Given the description of an element on the screen output the (x, y) to click on. 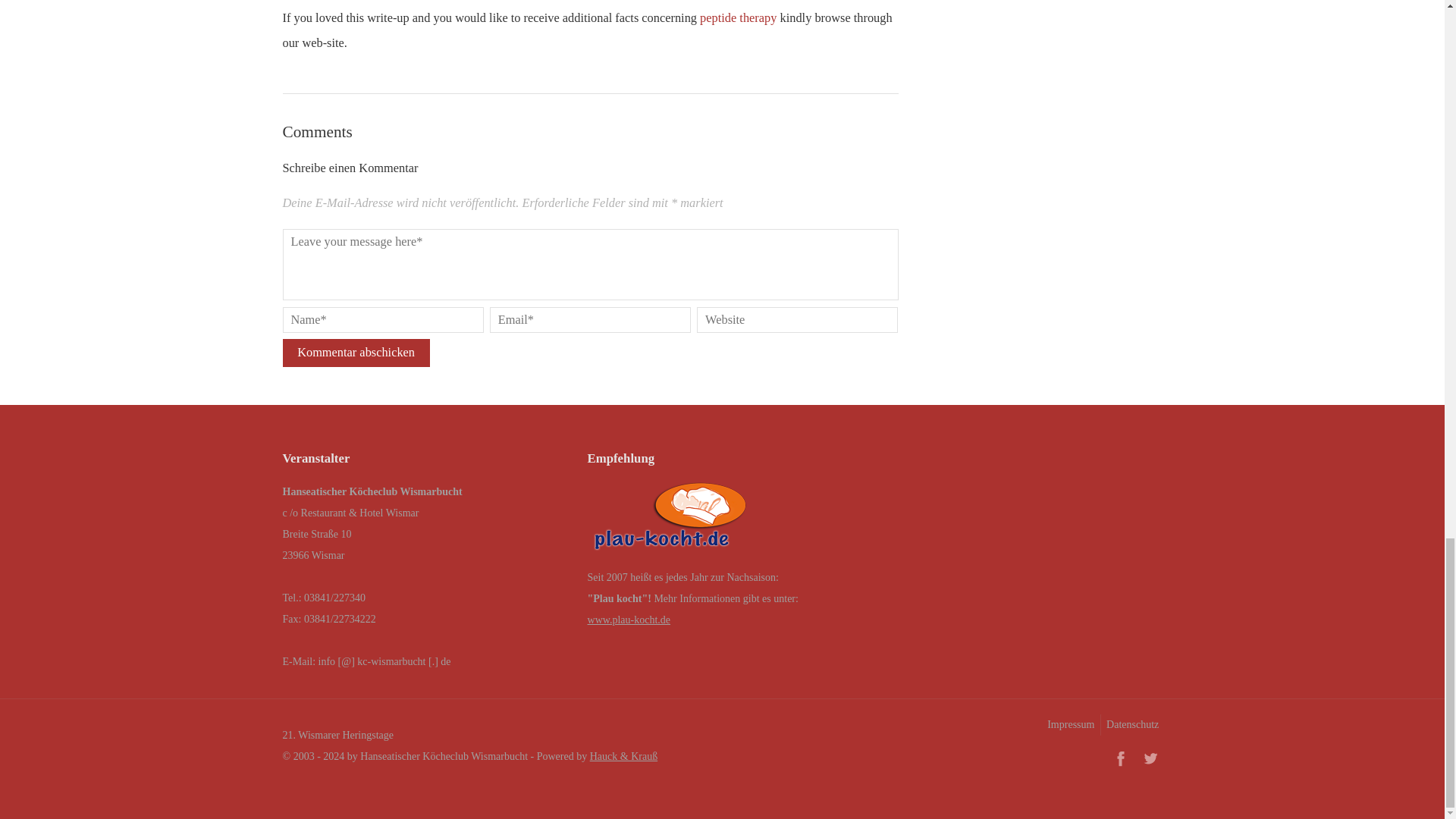
Datenschutz (1130, 724)
peptide therapy (738, 17)
Kommentar abschicken (355, 353)
Kommentar abschicken (355, 353)
Facebook (1120, 758)
www.plau-kocht.de (629, 619)
Impressum (1069, 724)
plau-kocht-logo (671, 520)
Twitter (1149, 758)
